Given the description of an element on the screen output the (x, y) to click on. 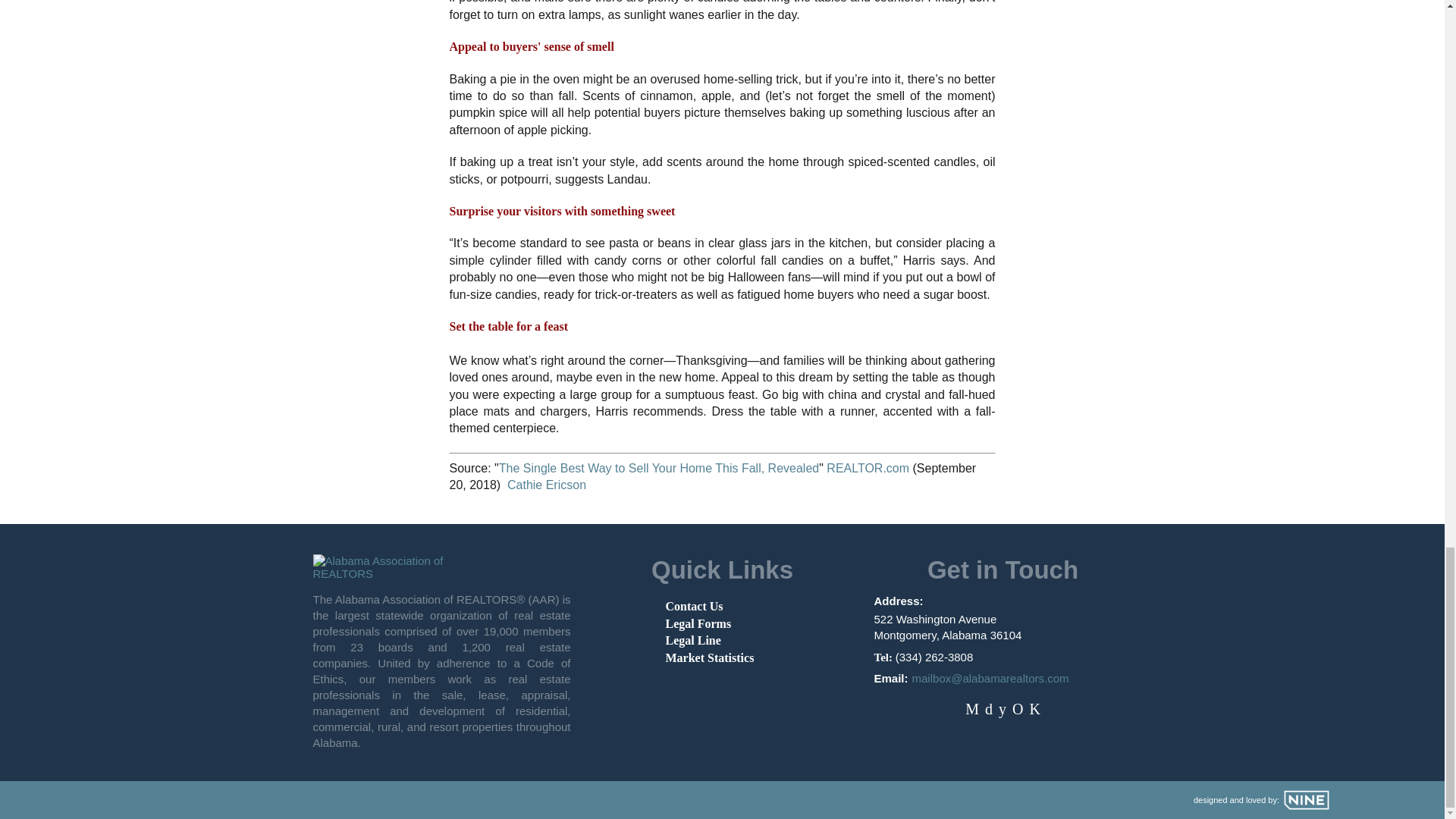
Contact Us (694, 605)
Legal Forms (698, 623)
Market Statistics (709, 657)
Cathie Ericson (546, 484)
Legal Line (692, 640)
REALTOR.com (867, 468)
The Single Best Way to Sell Your Home This Fall, Revealed (658, 468)
